Given the description of an element on the screen output the (x, y) to click on. 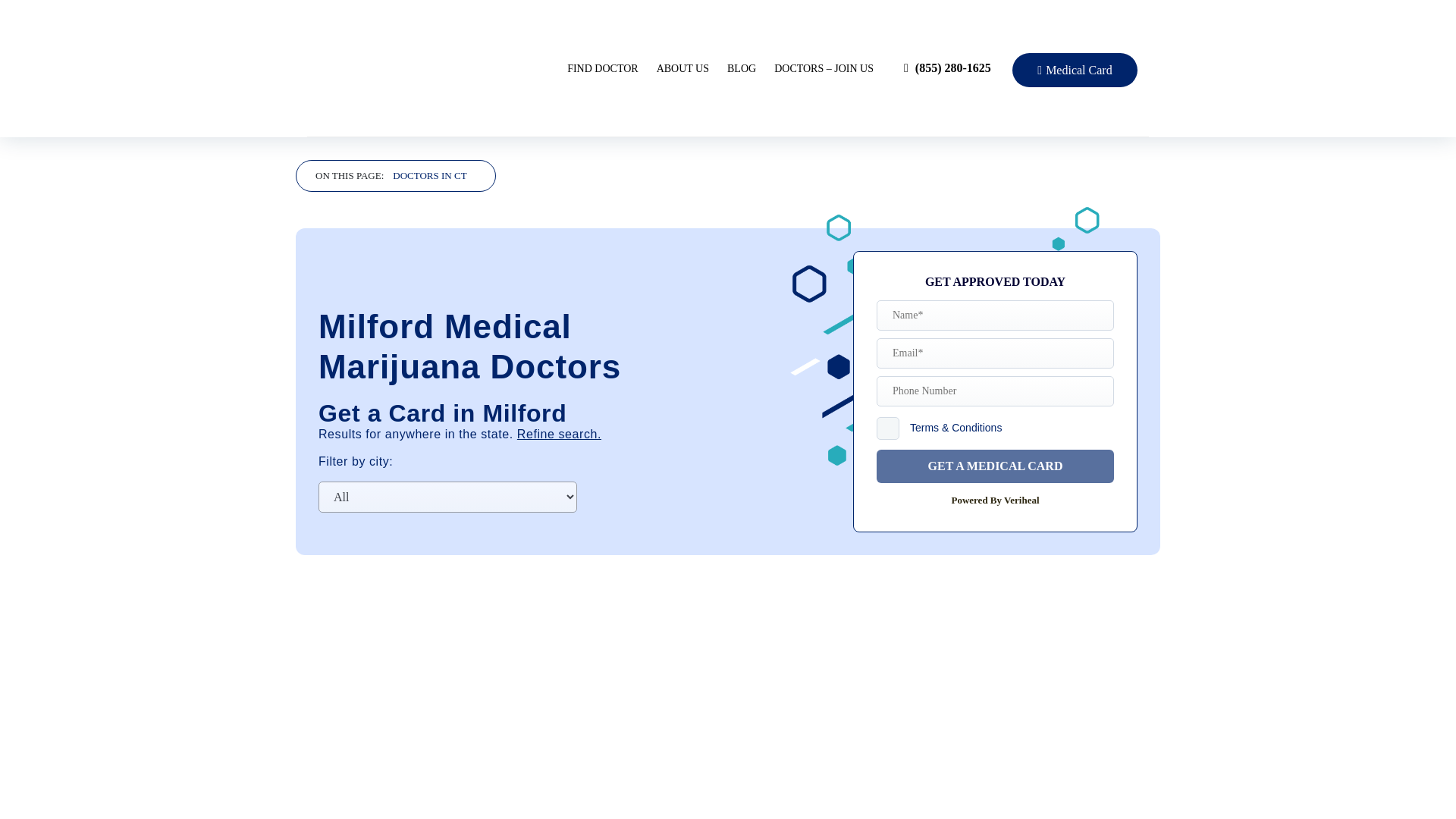
BLOG (740, 68)
ABOUT US (682, 68)
FIND DOCTOR (602, 68)
DOCTORS IN CT (430, 175)
GET A MEDICAL CARD (994, 466)
Medical Card (1074, 69)
Marijuana Doctors logo (432, 66)
